Given the description of an element on the screen output the (x, y) to click on. 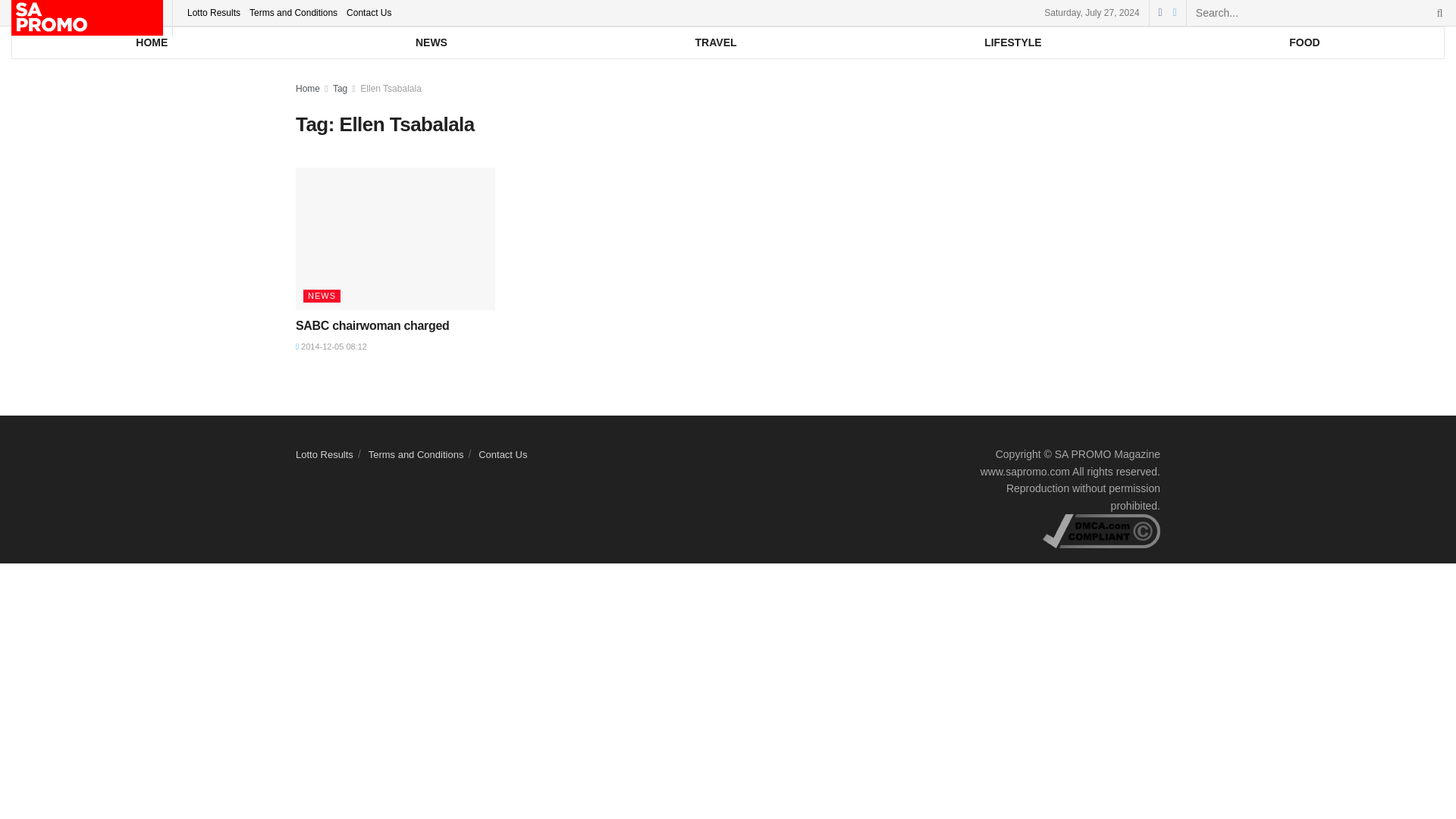
FOOD (1305, 42)
DMCA Compliance information for sapromo.com (1101, 530)
Lotto Results (213, 12)
Terms and Conditions (292, 12)
NEWS (432, 42)
HOME (151, 42)
Contact Us (368, 12)
LIFESTYLE (1013, 42)
TRAVEL (715, 42)
